Given the description of an element on the screen output the (x, y) to click on. 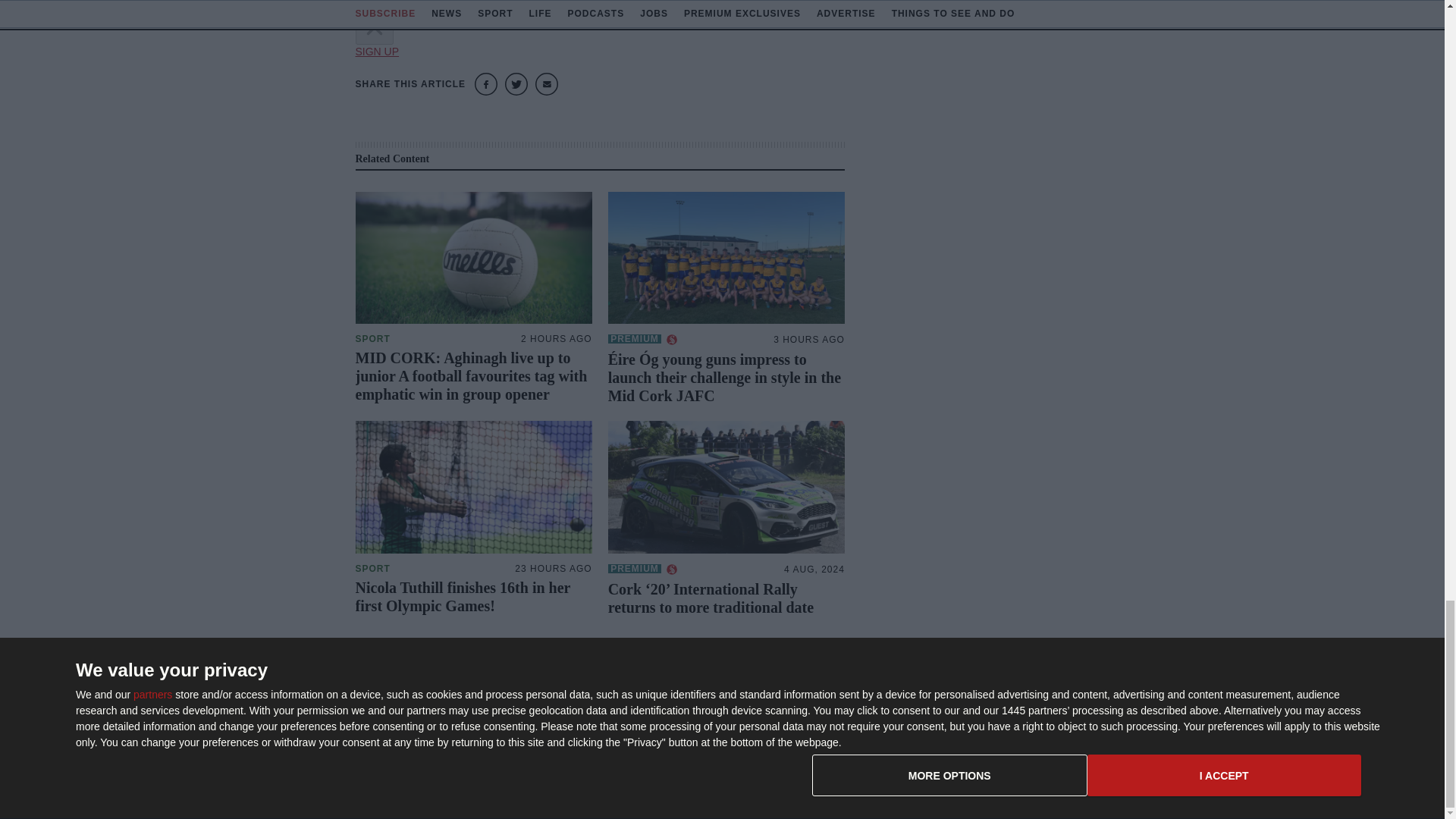
Southern Star Ltd. logo (430, 702)
Archive (839, 745)
Contact Us (1002, 696)
Learn A Language (864, 769)
Comments Policy (1017, 745)
Advertise With Us (863, 720)
ePaper (839, 696)
